Given the description of an element on the screen output the (x, y) to click on. 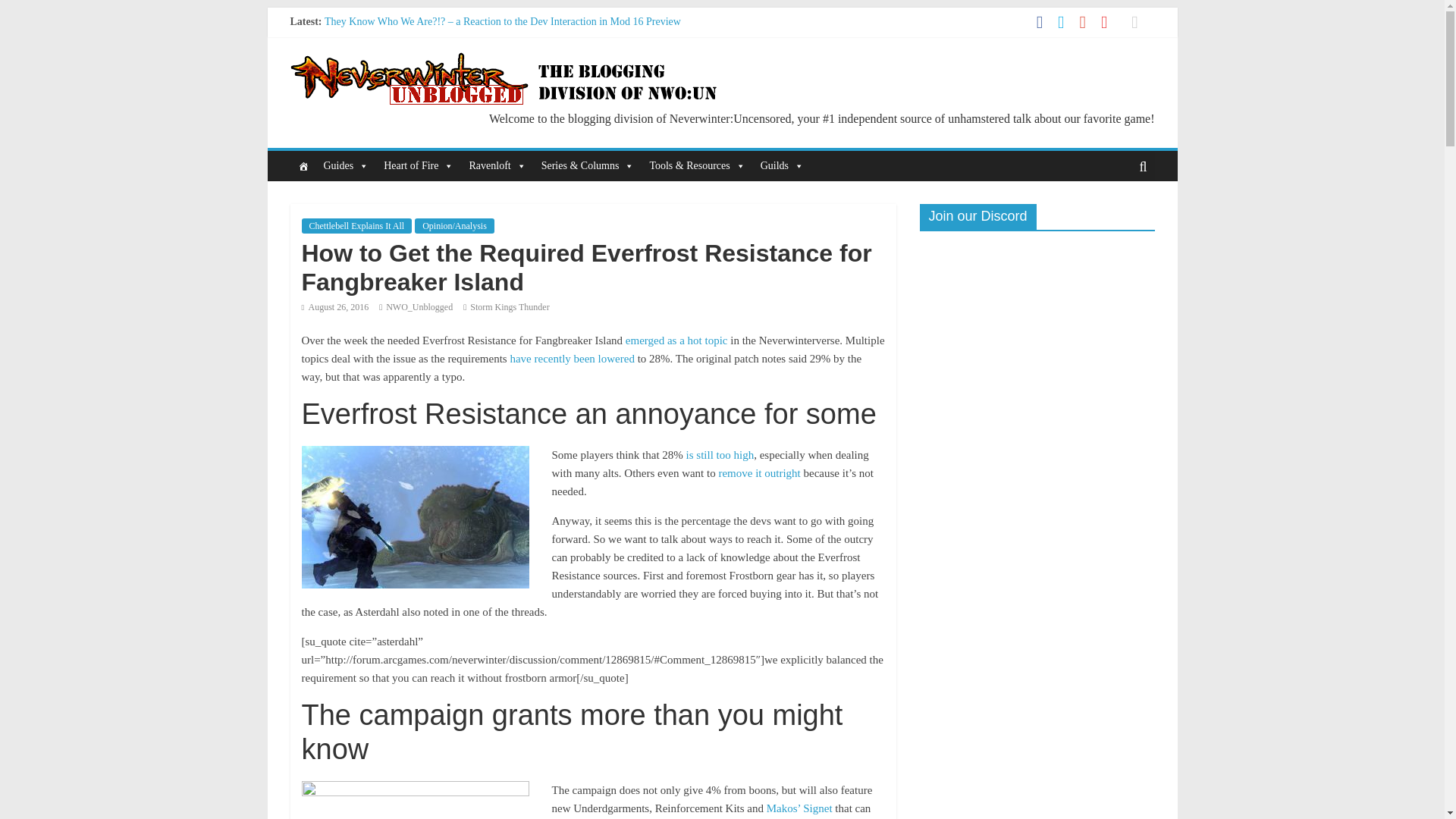
A Case for Complexity Part I (386, 89)
A Case For Complexity Part II (389, 71)
Module 16 Closed Beta Review (392, 38)
7:00 am (335, 307)
A Case for Complexity Part I (386, 89)
Neverwinter Module 16 Mechanics (400, 55)
Module 16 Closed Beta Review (392, 38)
Neverwinter Module 16 Mechanics (400, 55)
A Case For Complexity Part II (389, 71)
Guides (345, 165)
